Given the description of an element on the screen output the (x, y) to click on. 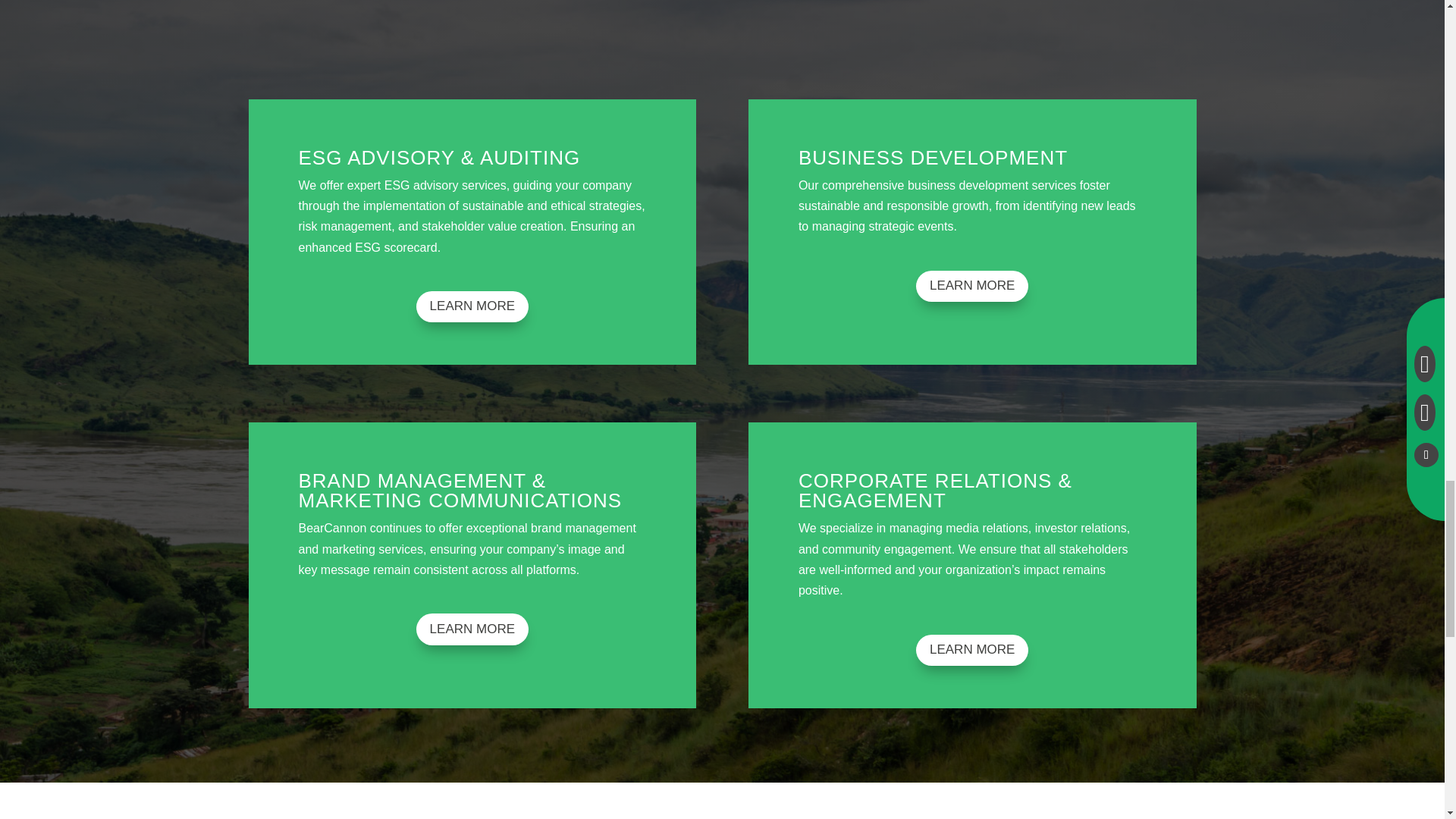
LEARN MORE (971, 286)
LEARN MORE (472, 628)
LEARN MORE (971, 649)
LEARN MORE (472, 306)
